Given the description of an element on the screen output the (x, y) to click on. 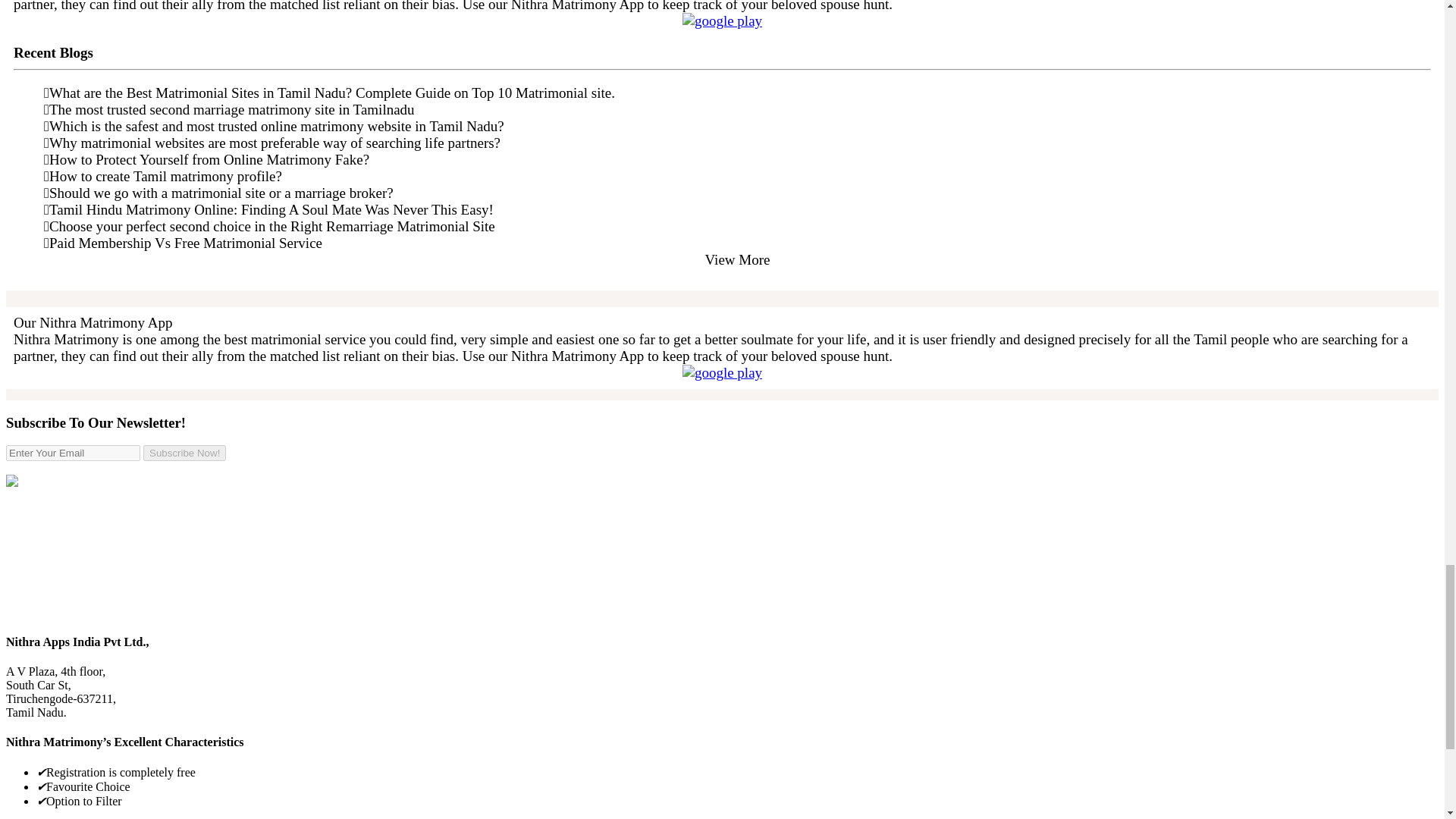
Subscribe Now! (183, 453)
